Given the description of an element on the screen output the (x, y) to click on. 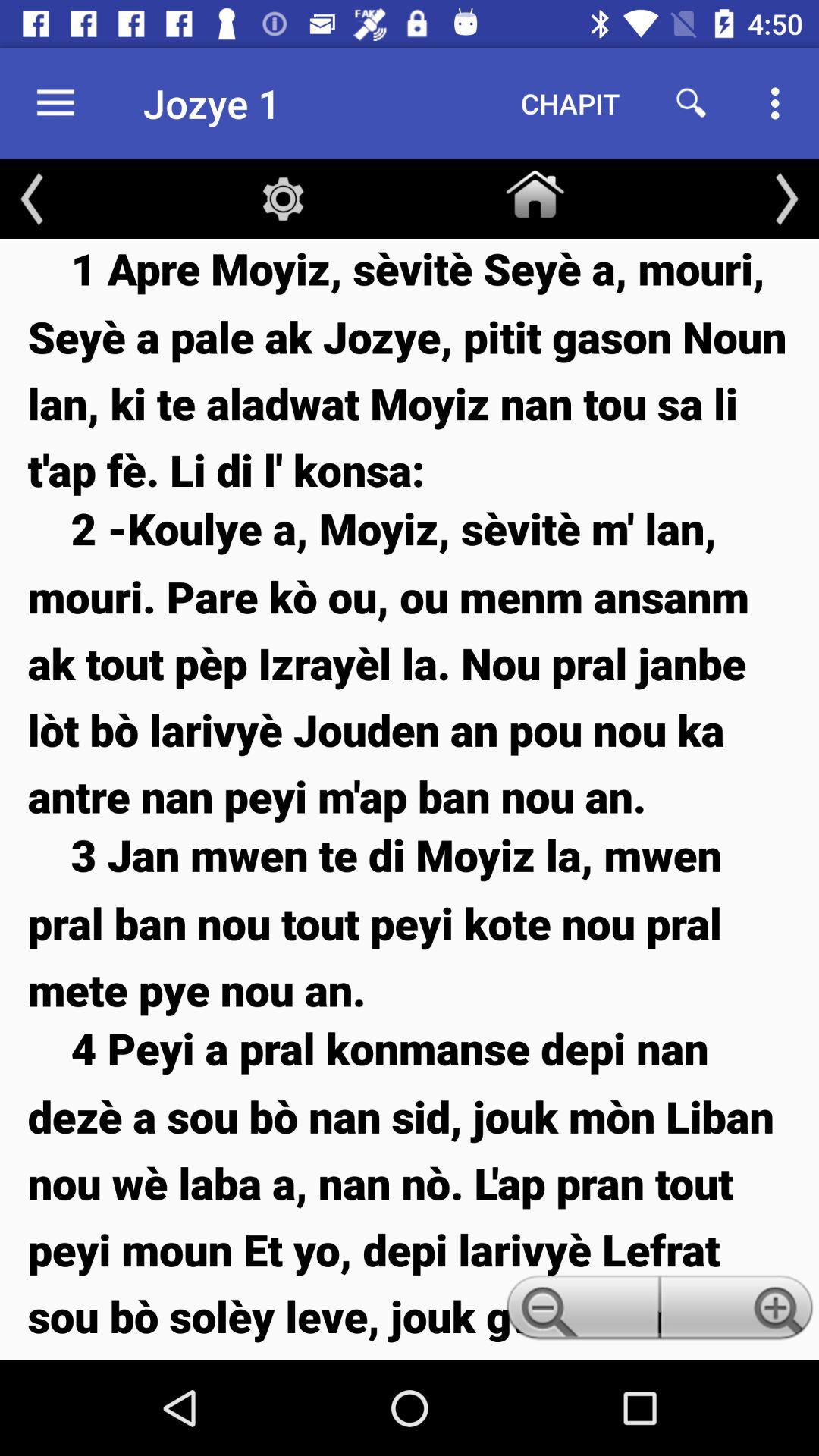
open 4 peyi a icon (409, 1189)
